Given the description of an element on the screen output the (x, y) to click on. 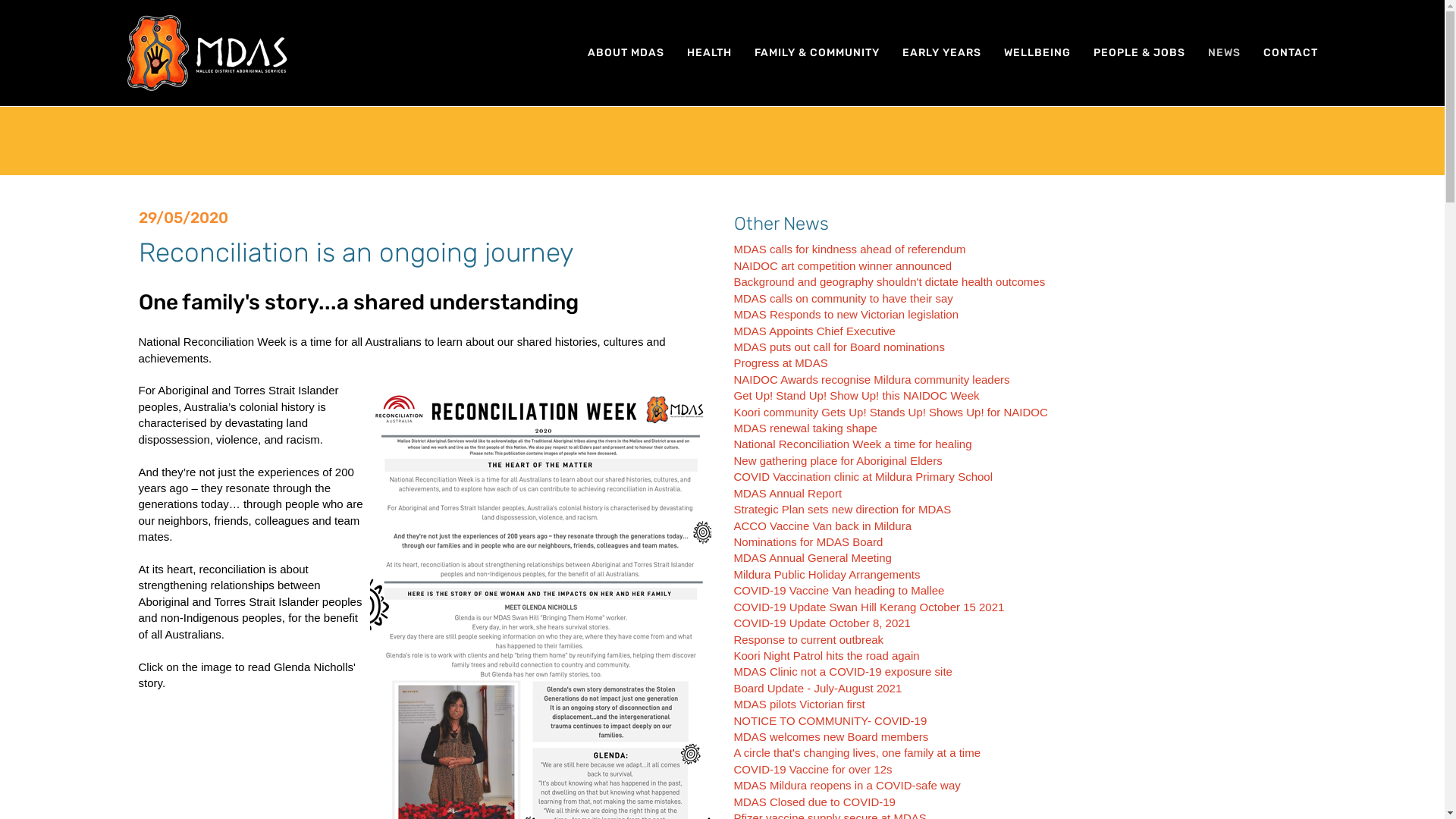
MDAS Responds to new Victorian legislation Element type: text (846, 313)
Progress at MDAS Element type: text (781, 362)
National Reconciliation Week a time for healing Element type: text (853, 443)
FAMILY & COMMUNITY Element type: text (817, 53)
MDAS Annual Report Element type: text (788, 492)
Koori community Gets Up! Stands Up! Shows Up! for NAIDOC Element type: text (891, 411)
MDAS Annual General Meeting Element type: text (812, 557)
ABOUT MDAS Element type: text (625, 53)
Get Up! Stand Up! Show Up! this NAIDOC Week Element type: text (856, 395)
MDAS welcomes new Board members Element type: text (831, 736)
NEWS Element type: text (1224, 53)
MDAS Clinic not a COVID-19 exposure site Element type: text (843, 671)
WELLBEING Element type: text (1036, 53)
EARLY YEARS Element type: text (940, 53)
New gathering place for Aboriginal Elders Element type: text (838, 460)
HEALTH Element type: text (708, 53)
MDAS puts out call for Board nominations Element type: text (839, 346)
Background and geography shouldn't dictate health outcomes Element type: text (889, 281)
MDAS Mildura reopens in a COVID-safe way Element type: text (847, 784)
COVID-19 Update October 8, 2021 Element type: text (822, 622)
CONTACT Element type: text (1289, 53)
MDAS calls for kindness ahead of referendum Element type: text (850, 248)
ACCO Vaccine Van back in Mildura Element type: text (823, 525)
MDAS pilots Victorian first Element type: text (799, 703)
Koori Night Patrol hits the road again Element type: text (826, 655)
Mildura Public Holiday Arrangements Element type: text (827, 573)
NAIDOC Awards recognise Mildura community leaders Element type: text (872, 379)
Nominations for MDAS Board Element type: text (808, 541)
NOTICE TO COMMUNITY- COVID-19 Element type: text (830, 720)
Response to current outbreak Element type: text (809, 639)
MDAS Appoints Chief Executive Element type: text (814, 330)
COVID-19 Update Swan Hill Kerang October 15 2021 Element type: text (869, 606)
Strategic Plan sets new direction for MDAS Element type: text (842, 508)
NAIDOC art competition winner announced Element type: text (843, 265)
MDAS calls on community to have their say Element type: text (843, 297)
COVID-19 Vaccine Van heading to Mallee Element type: text (839, 589)
PEOPLE & JOBS Element type: text (1138, 53)
COVID Vaccination clinic at Mildura Primary School Element type: text (863, 476)
MDAS renewal taking shape Element type: text (805, 427)
COVID-19 Vaccine for over 12s Element type: text (813, 768)
A circle that's changing lives, one family at a time Element type: text (857, 752)
MDAS Closed due to COVID-19 Element type: text (814, 801)
Board Update - July-August 2021 Element type: text (818, 687)
